Given the description of an element on the screen output the (x, y) to click on. 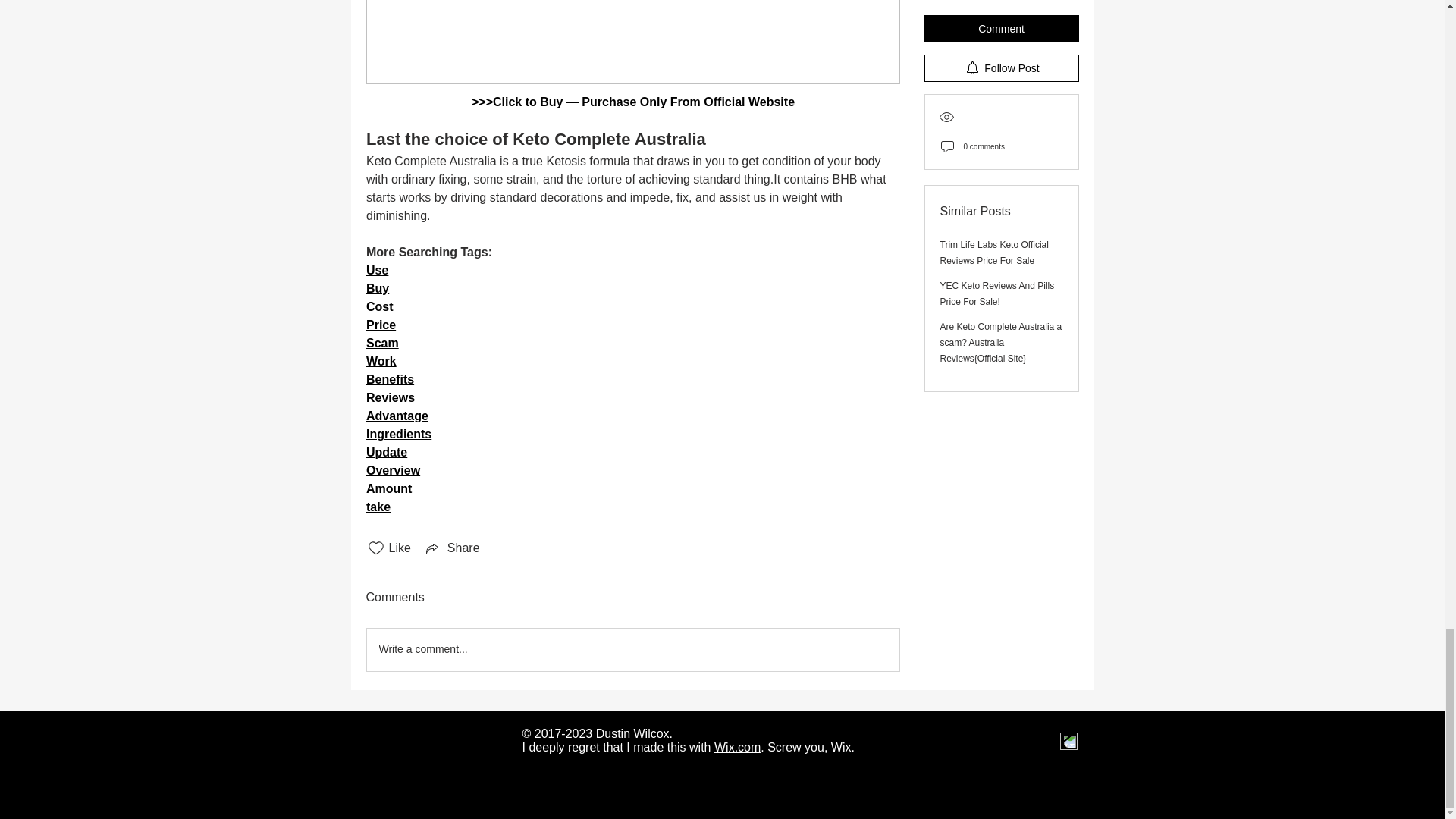
Benefits (389, 379)
Cost (379, 306)
Ingredients (397, 433)
Use (376, 269)
Overview (392, 470)
Amount (387, 488)
Price (379, 324)
Work (380, 360)
Reviews (389, 397)
Advantage (396, 415)
Scam (381, 342)
Update (385, 451)
take (377, 506)
Buy (376, 287)
